Given the description of an element on the screen output the (x, y) to click on. 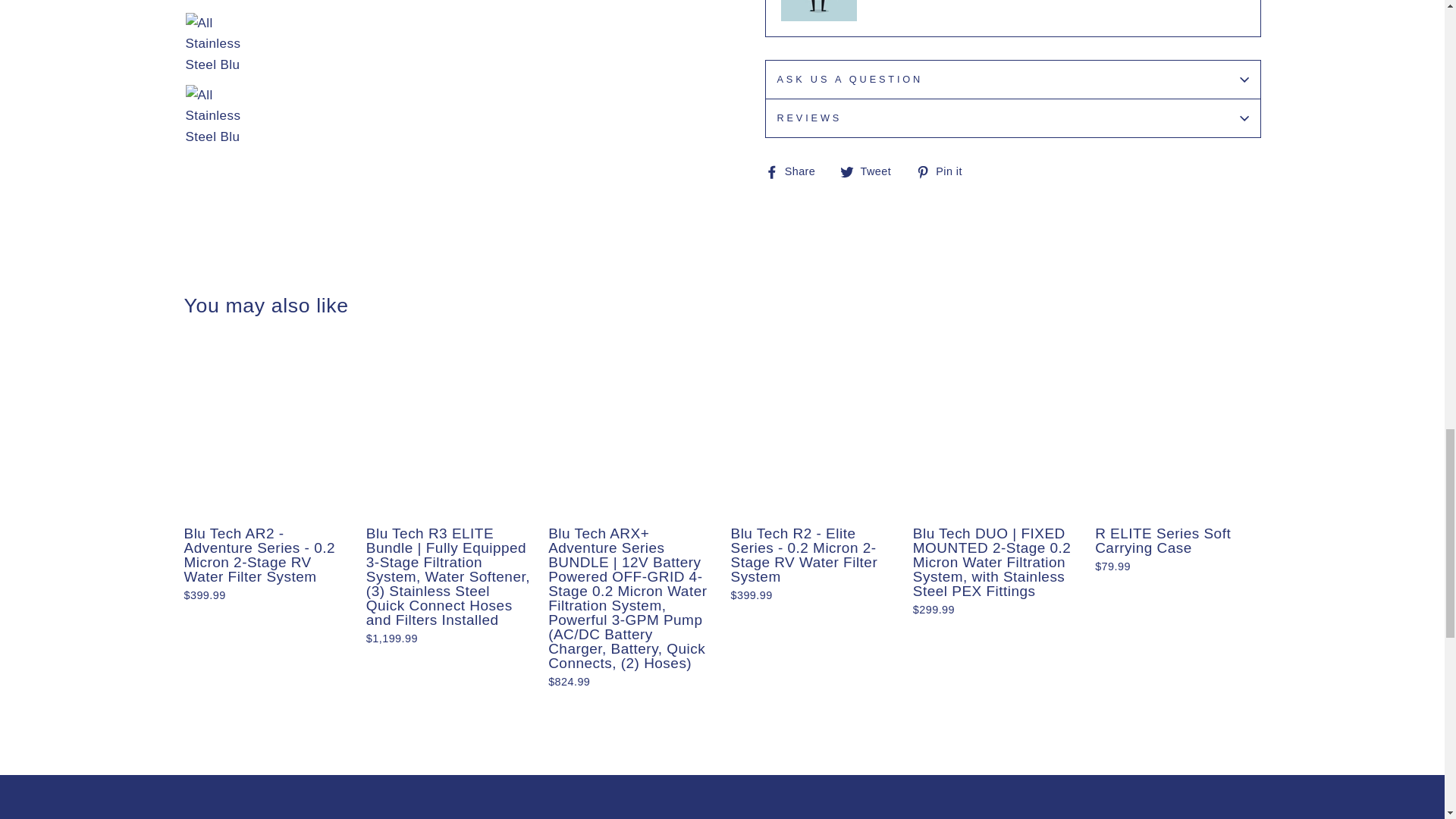
Share on Facebook (795, 170)
Tweet on Twitter (871, 170)
Pin on Pinterest (944, 170)
